Given the description of an element on the screen output the (x, y) to click on. 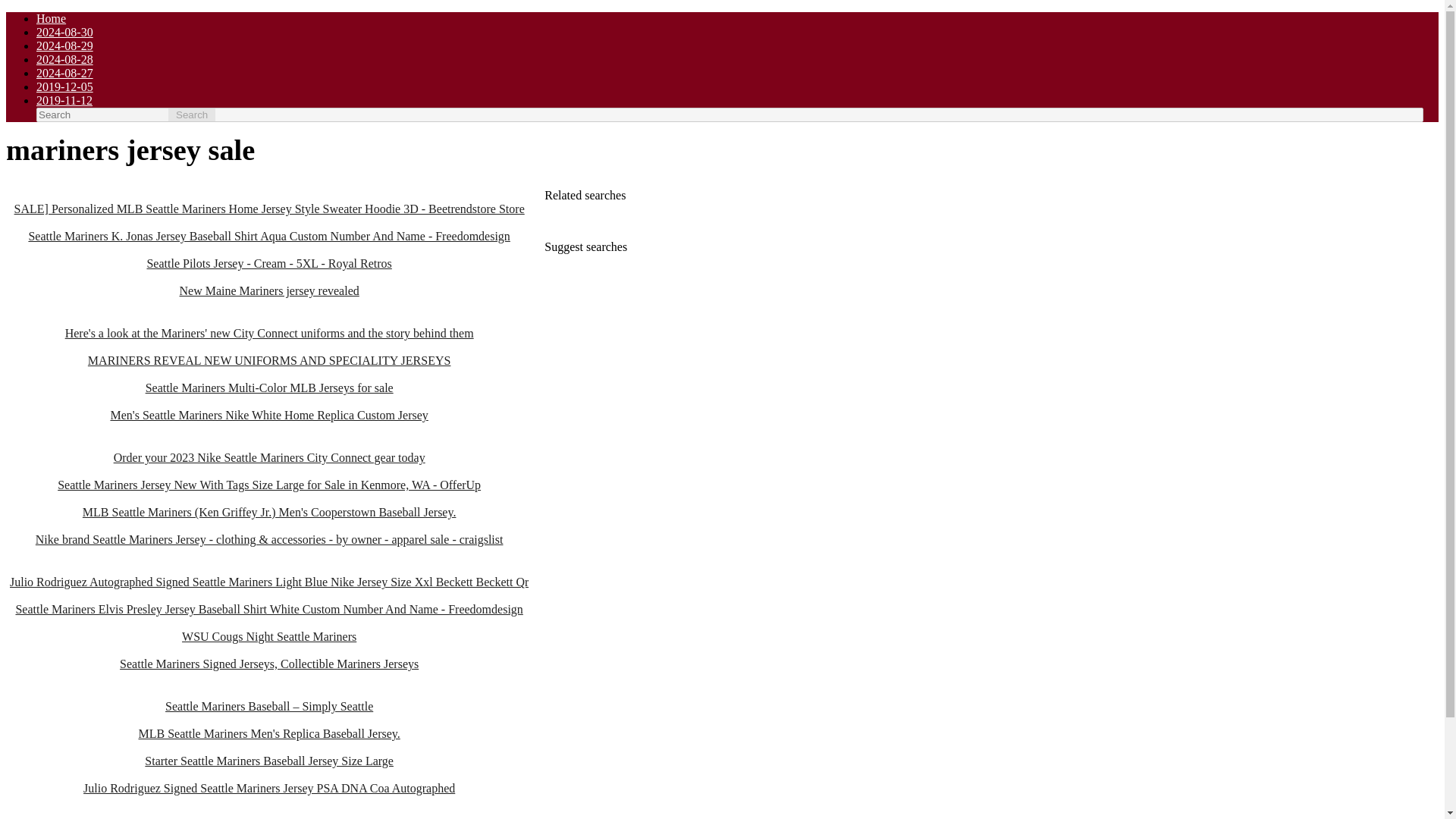
2024-08-28 (64, 59)
Seattle Pilots Jersey - Cream - 5XL - Royal Retros (269, 257)
Men's Seattle Mariners Nike White Home Replica Custom Jersey (269, 408)
Home (50, 18)
